Given the description of an element on the screen output the (x, y) to click on. 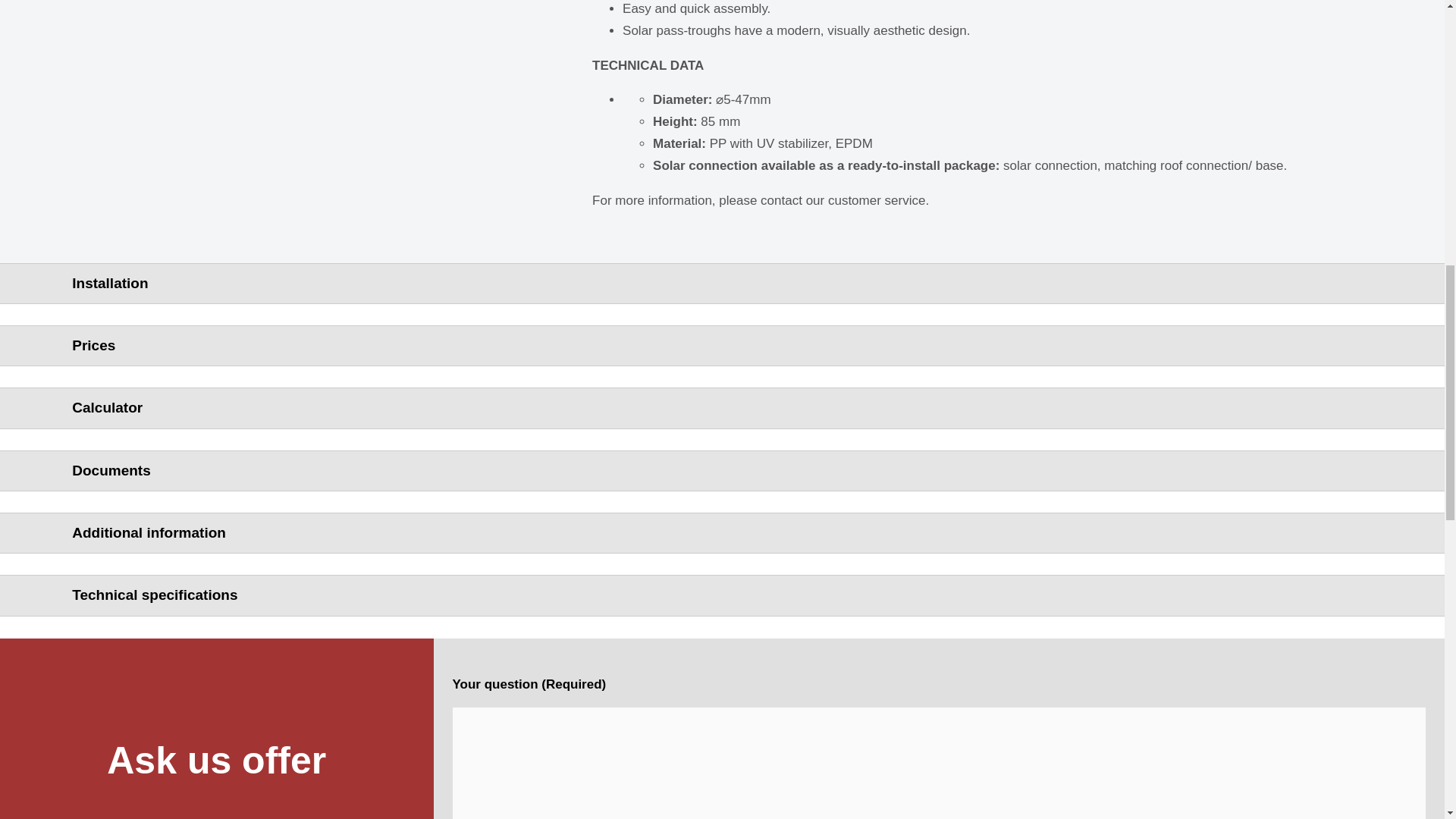
Technical specifications (722, 595)
Calculator (722, 407)
Installation (722, 283)
Additional information (722, 532)
Prices (722, 345)
Documents (722, 470)
